Given the description of an element on the screen output the (x, y) to click on. 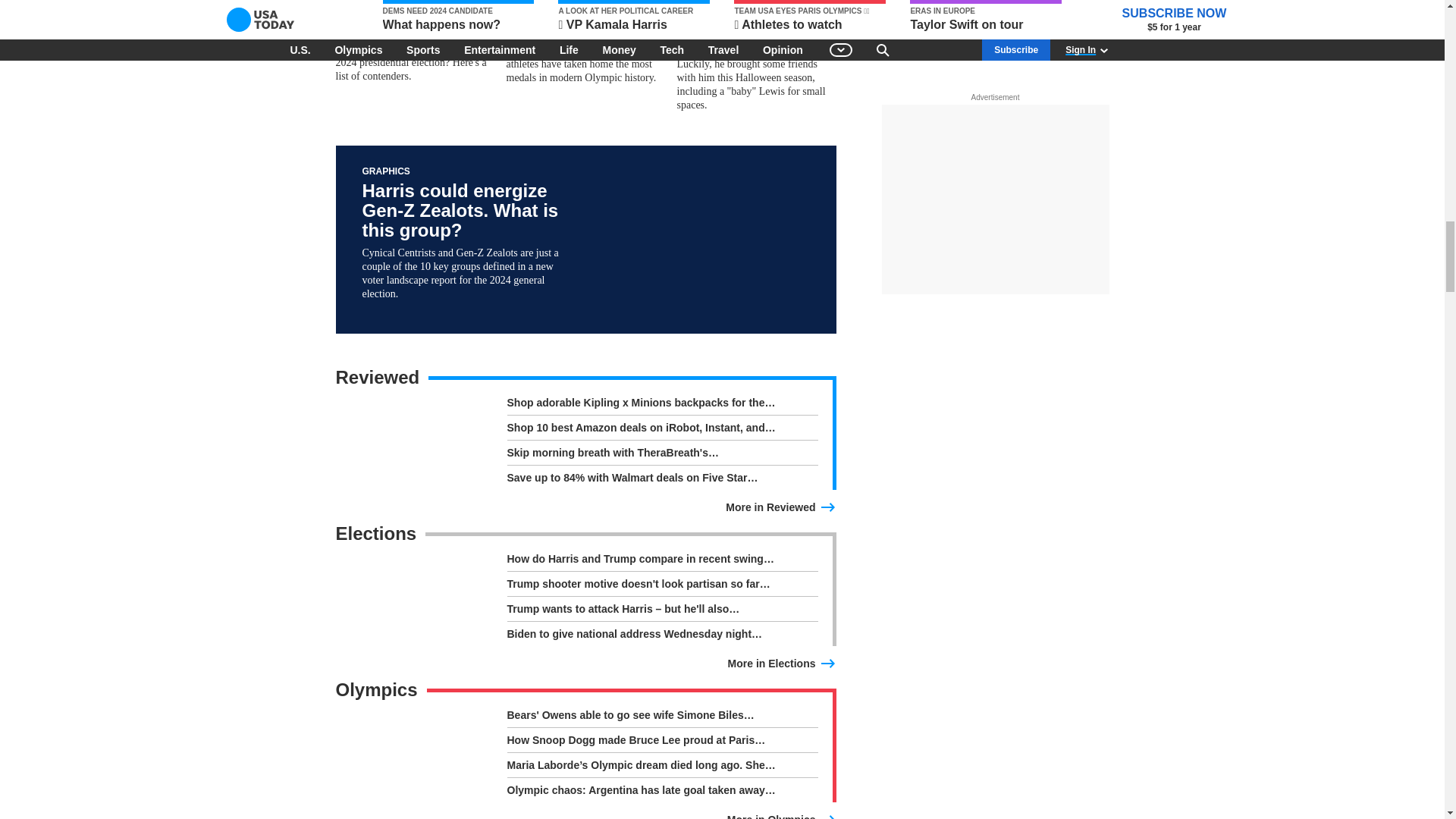
How do Harris and Trump compare in recent swing state polls? (661, 561)
Shop 10 best Amazon deals on iRobot, Instant, and Apple (661, 430)
